Given the description of an element on the screen output the (x, y) to click on. 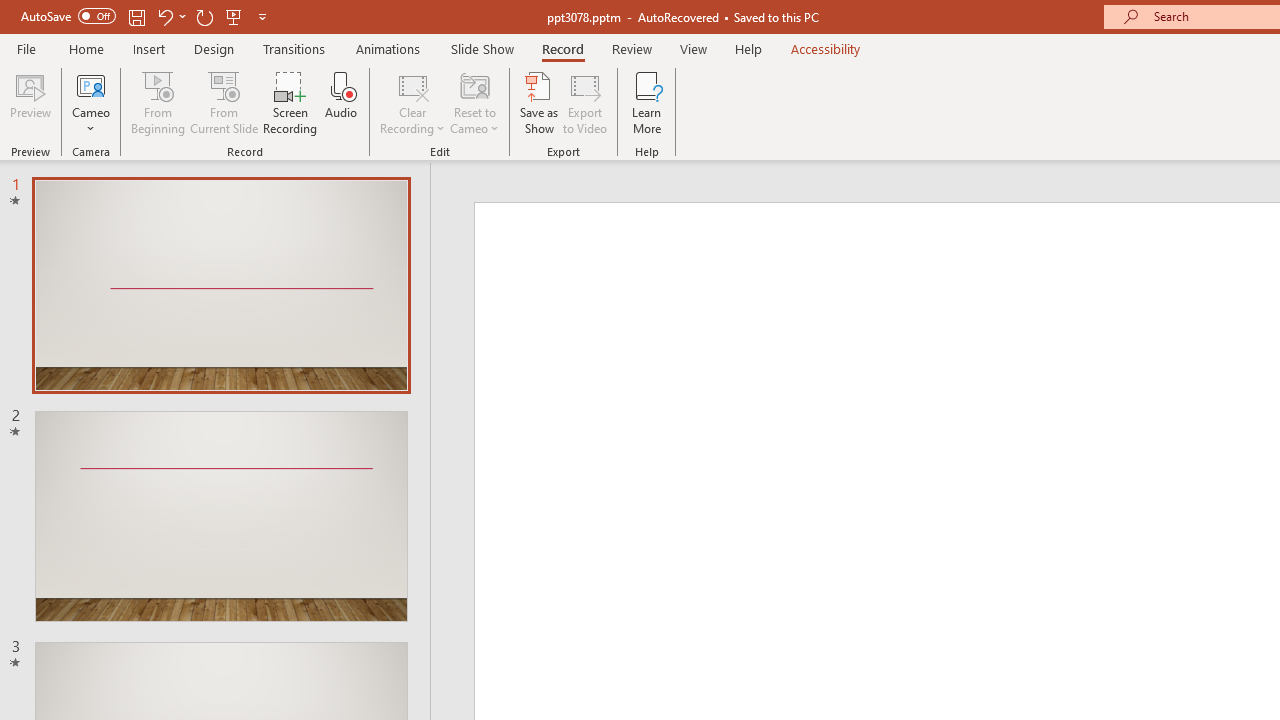
Audio (341, 102)
Reset to Cameo (474, 102)
From Beginning... (158, 102)
Save as Show (539, 102)
